Given the description of an element on the screen output the (x, y) to click on. 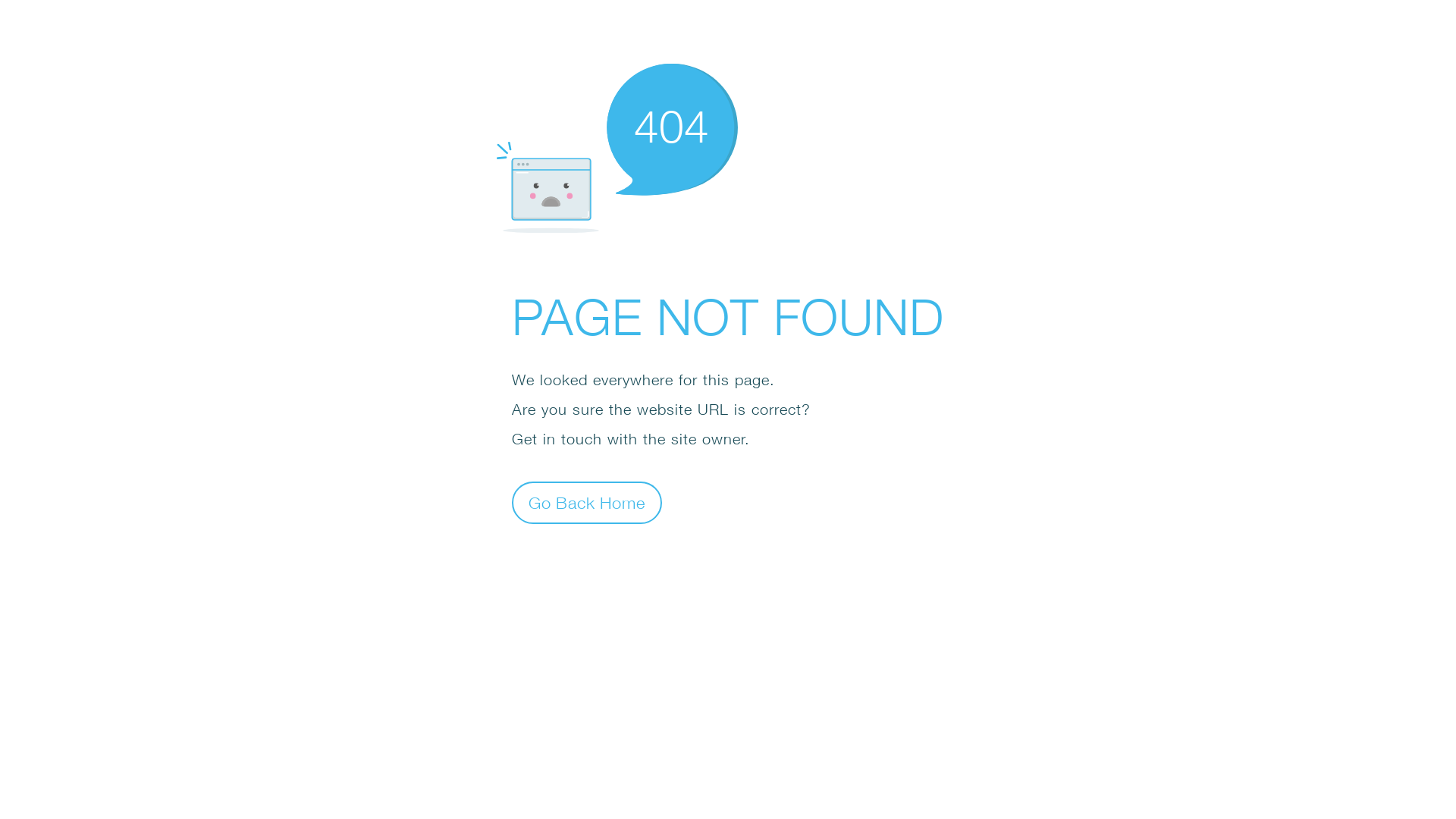
Go Back Home Element type: text (586, 502)
